Given the description of an element on the screen output the (x, y) to click on. 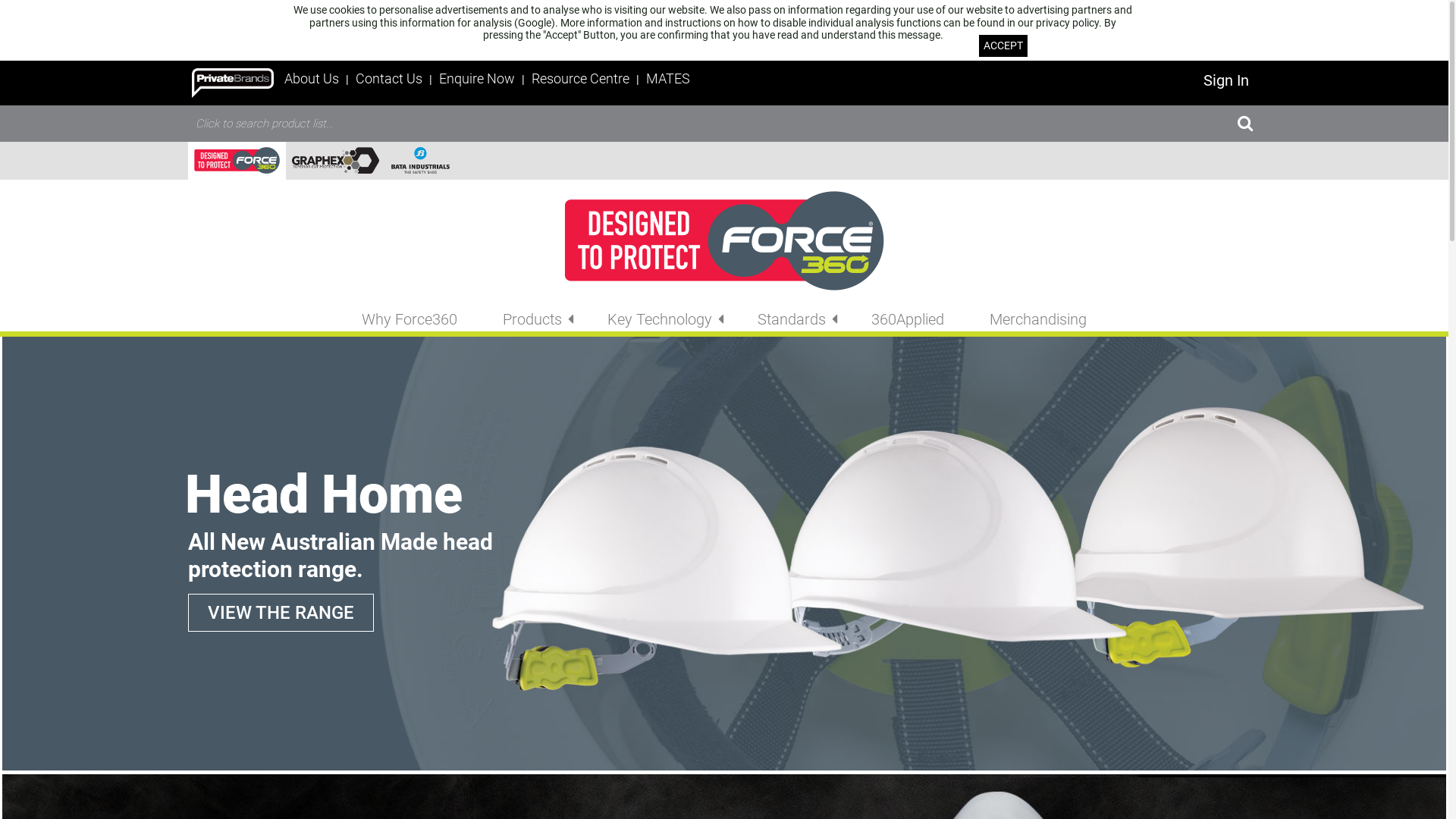
ACCEPT Element type: text (1003, 45)
Products Element type: text (531, 319)
Key Technology Element type: text (659, 319)
Enquire Now Element type: text (478, 78)
MATES Element type: text (668, 78)
Standards Element type: text (791, 319)
Why Force360 Element type: text (409, 319)
Sign In Element type: text (1225, 80)
Contact Us Element type: text (390, 78)
About Us Element type: text (311, 78)
VIEW THE RANGE Element type: text (280, 612)
Merchandising Element type: text (1037, 319)
360Applied Element type: text (907, 319)
Resource Centre Element type: text (581, 78)
